Given the description of an element on the screen output the (x, y) to click on. 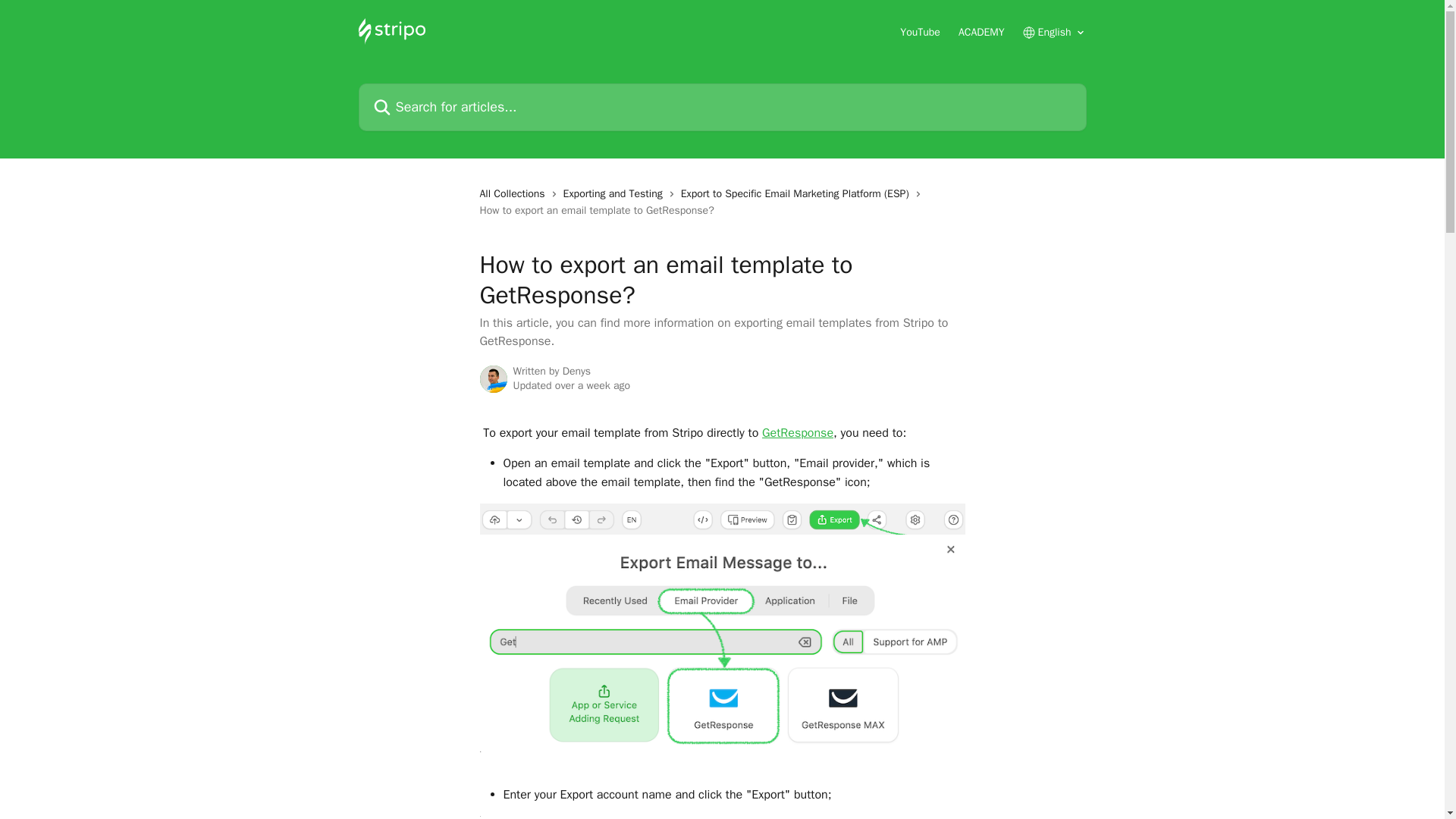
All Collections (514, 193)
YouTube (919, 32)
GetResponse (796, 432)
Exporting and Testing (615, 193)
ACADEMY (981, 32)
